Given the description of an element on the screen output the (x, y) to click on. 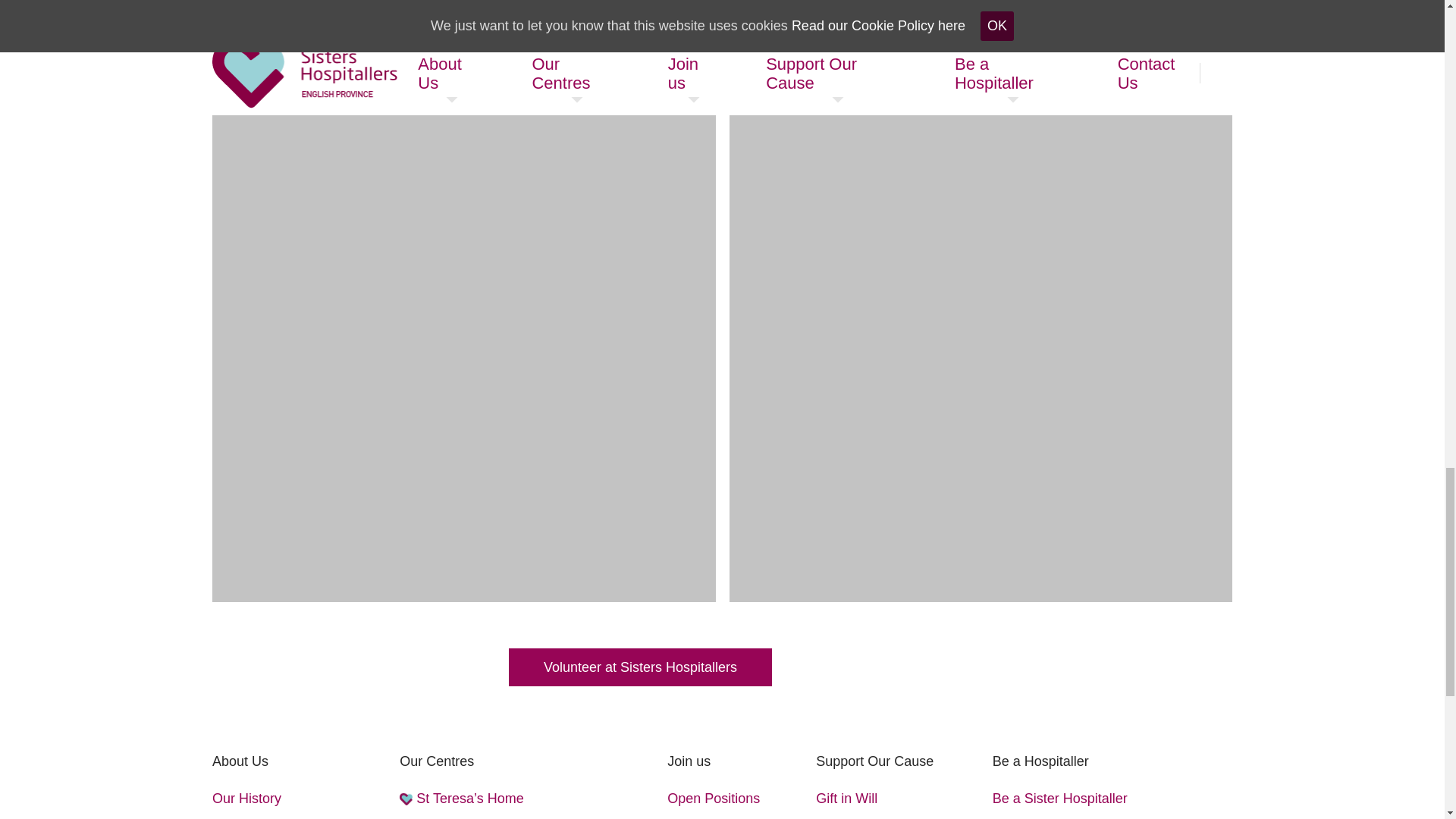
Volunteer at Sisters Hospitallers (639, 667)
Mission, Vision and Values (292, 817)
Our History (246, 798)
About Us (240, 761)
